Given the description of an element on the screen output the (x, y) to click on. 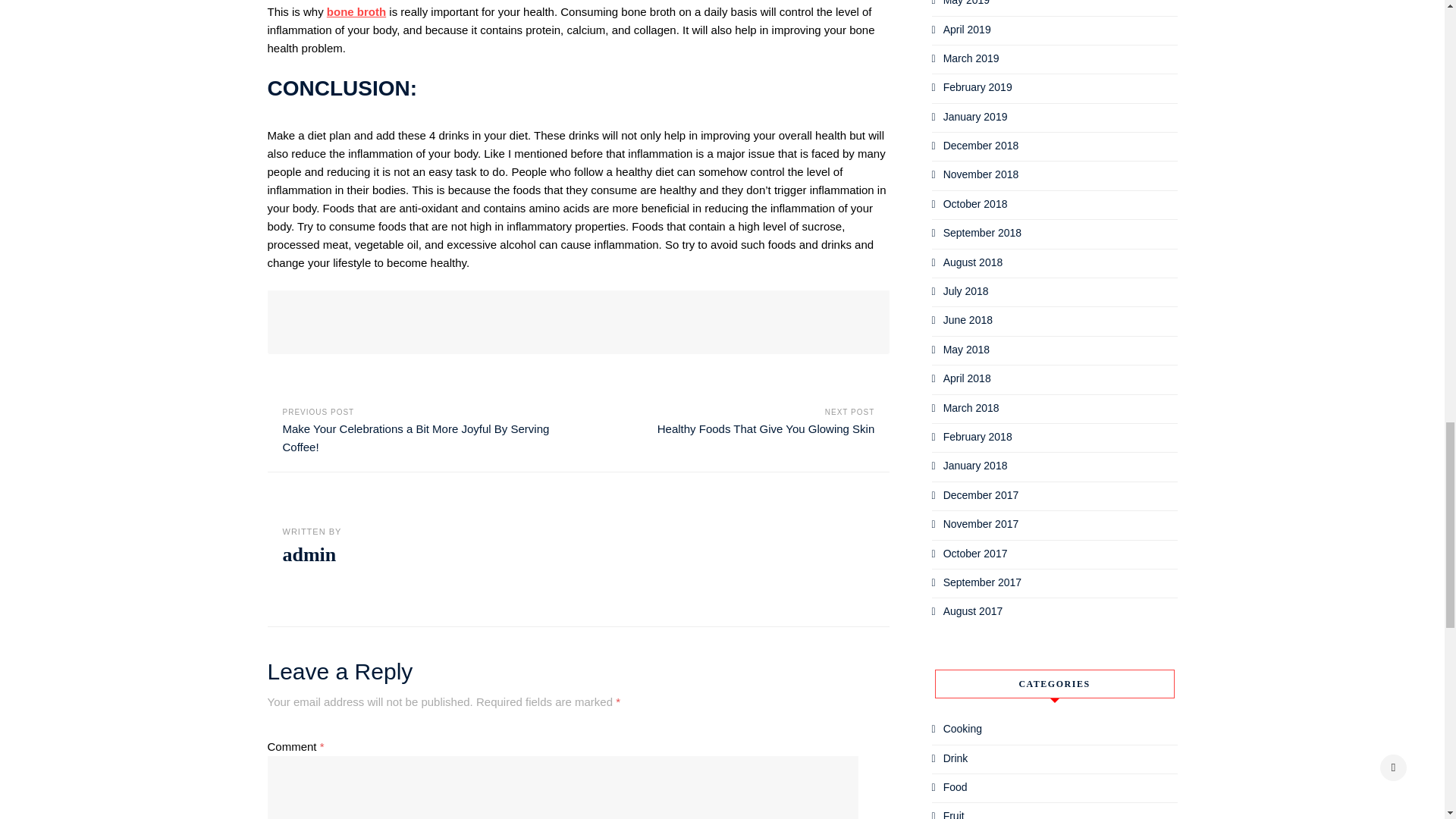
admin (309, 554)
Make Your Celebrations a Bit More Joyful By Serving Coffee! (415, 437)
Healthy Foods That Give You Glowing Skin (766, 428)
bone broth (355, 11)
